Given the description of an element on the screen output the (x, y) to click on. 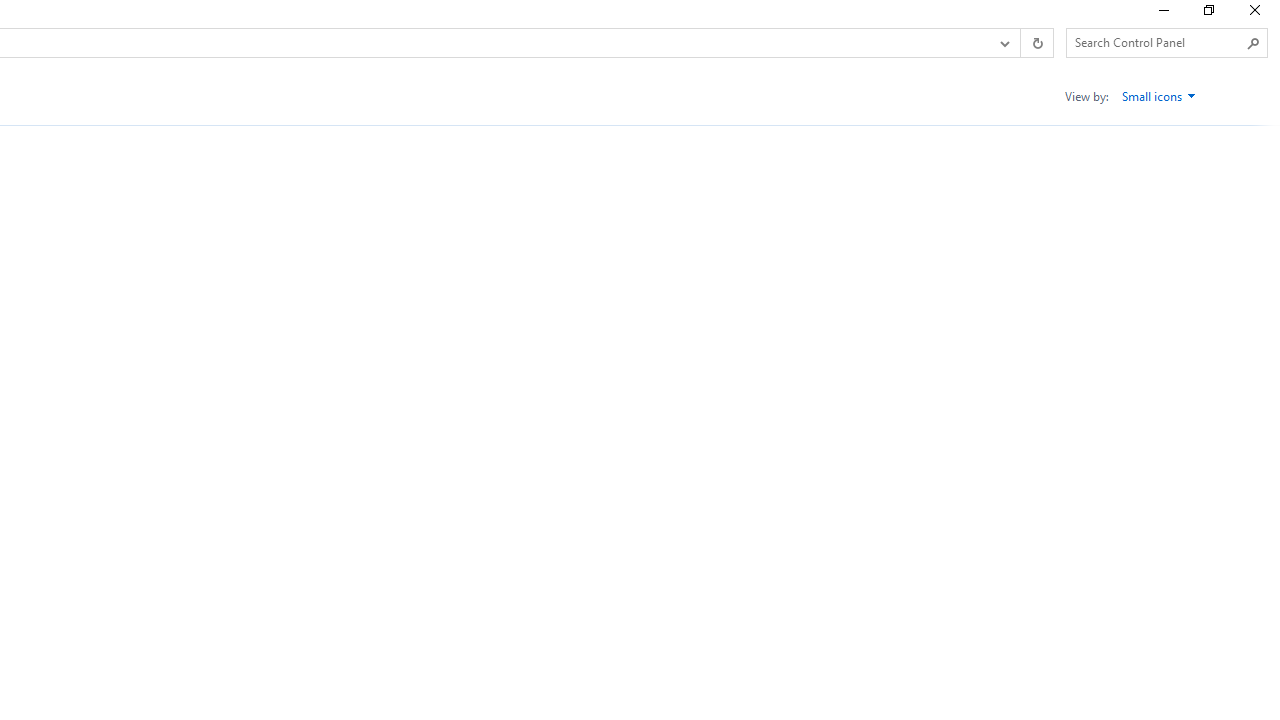
Address band toolbar (1019, 43)
Minimize (1162, 14)
Restore (1208, 14)
Small icons (1159, 96)
Search (1253, 43)
Search Box (1156, 42)
Refresh "All Control Panel Items" (F5) (1036, 43)
Previous Locations (1003, 43)
